Given the description of an element on the screen output the (x, y) to click on. 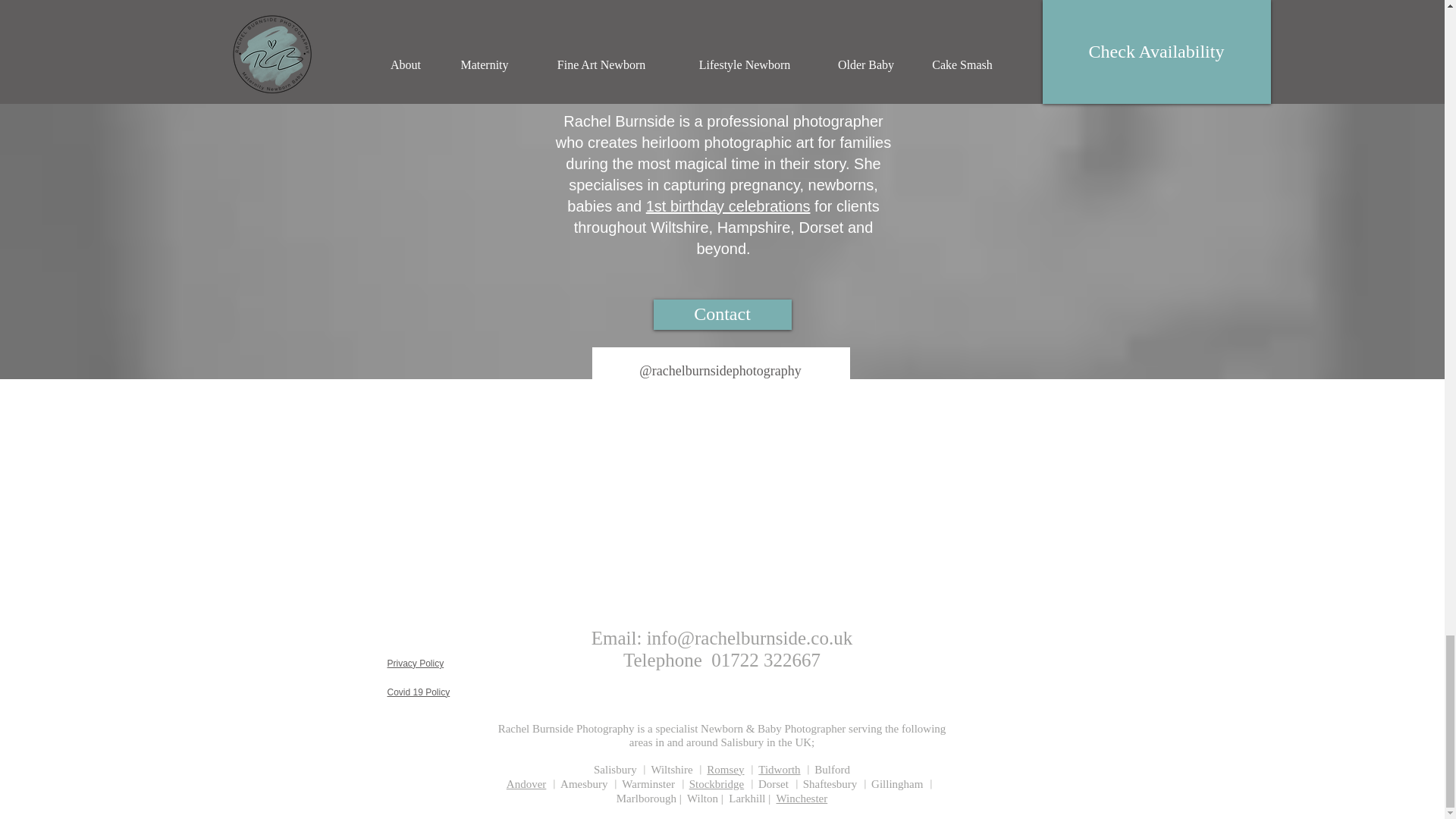
Stockbridge (716, 784)
Andover (526, 784)
Romsey (725, 769)
Covid 19 Policy (418, 692)
Tidworth (778, 769)
Contact (722, 314)
Privacy Policy (415, 663)
Winchester (802, 798)
1st birthday celebrations (728, 206)
